Given the description of an element on the screen output the (x, y) to click on. 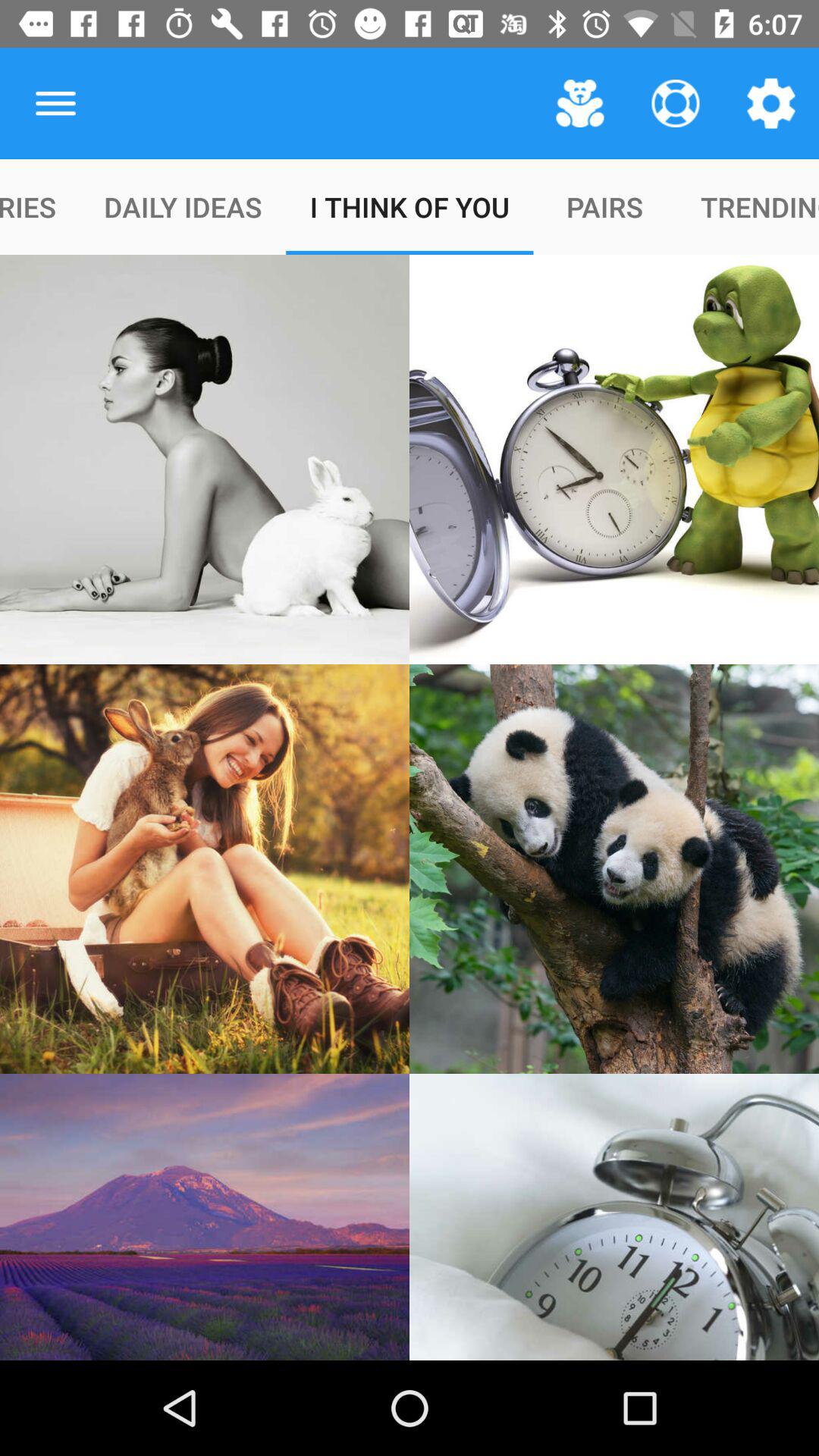
launch item above categories (55, 103)
